Given the description of an element on the screen output the (x, y) to click on. 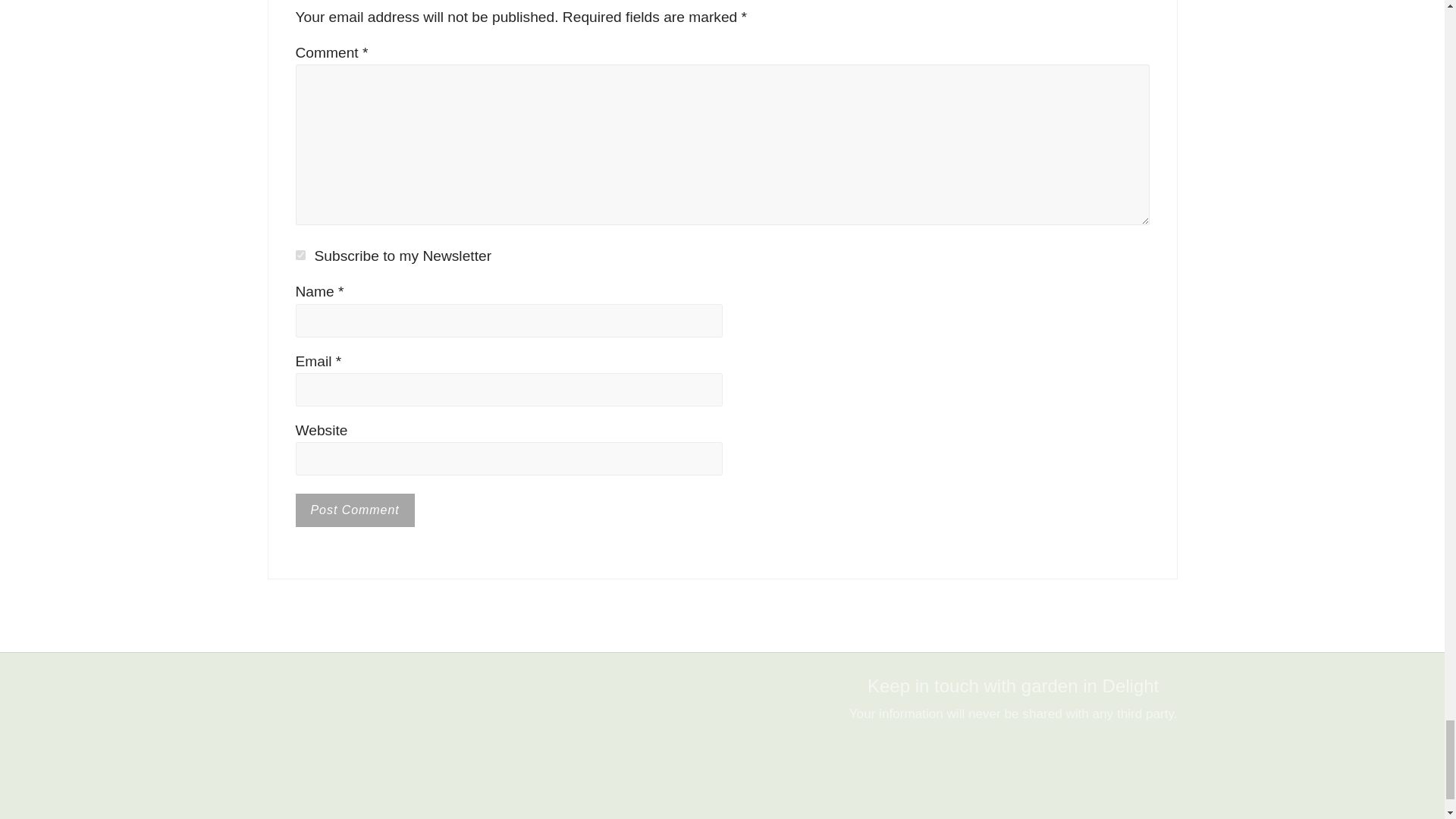
Post Comment (354, 510)
1 (300, 255)
